Given the description of an element on the screen output the (x, y) to click on. 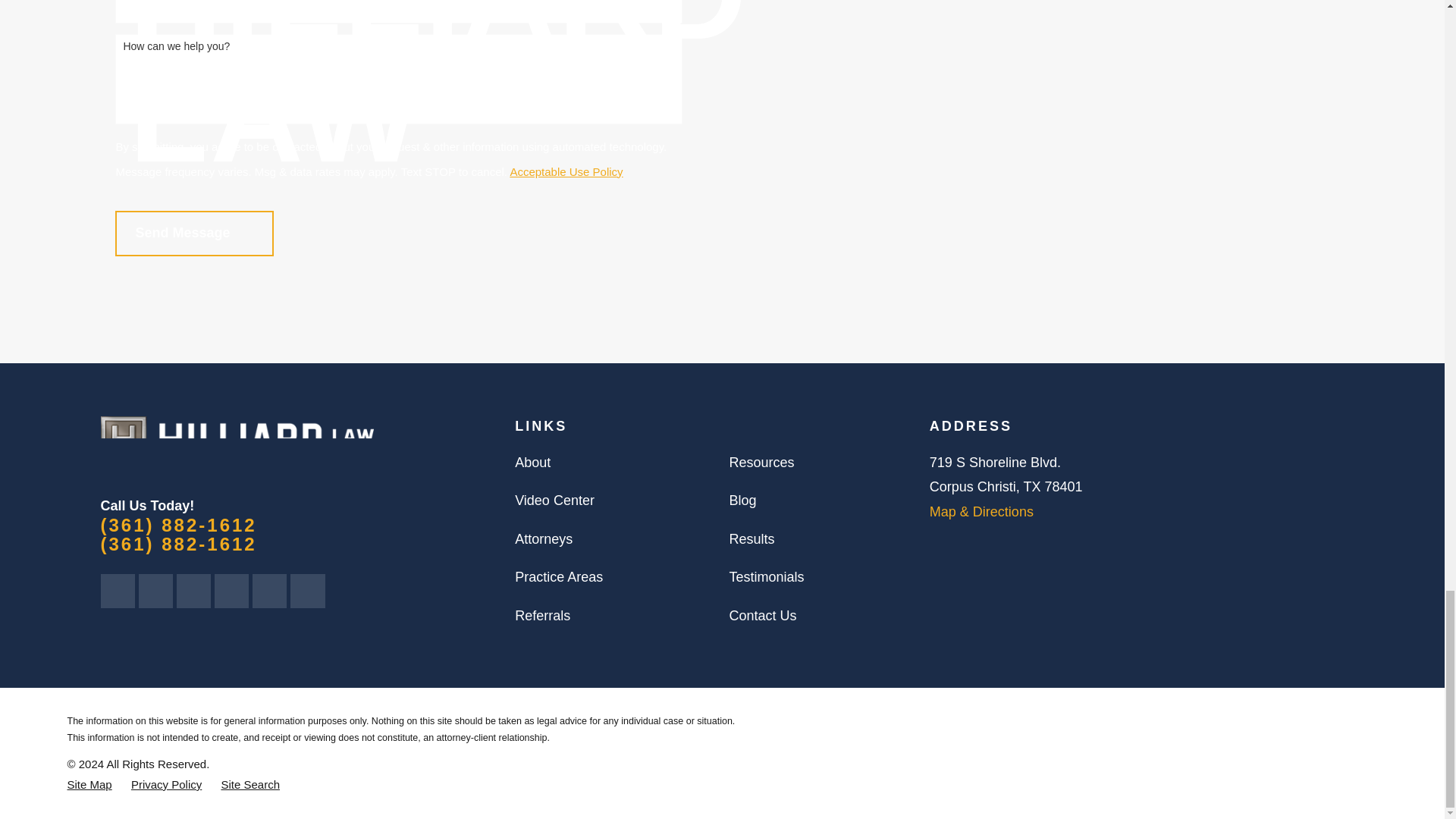
Facebook (156, 590)
Instagram (269, 590)
LinkedIn (193, 590)
Home (236, 438)
Google Business Profile (307, 590)
Twitter (116, 590)
YouTube (231, 590)
